Given the description of an element on the screen output the (x, y) to click on. 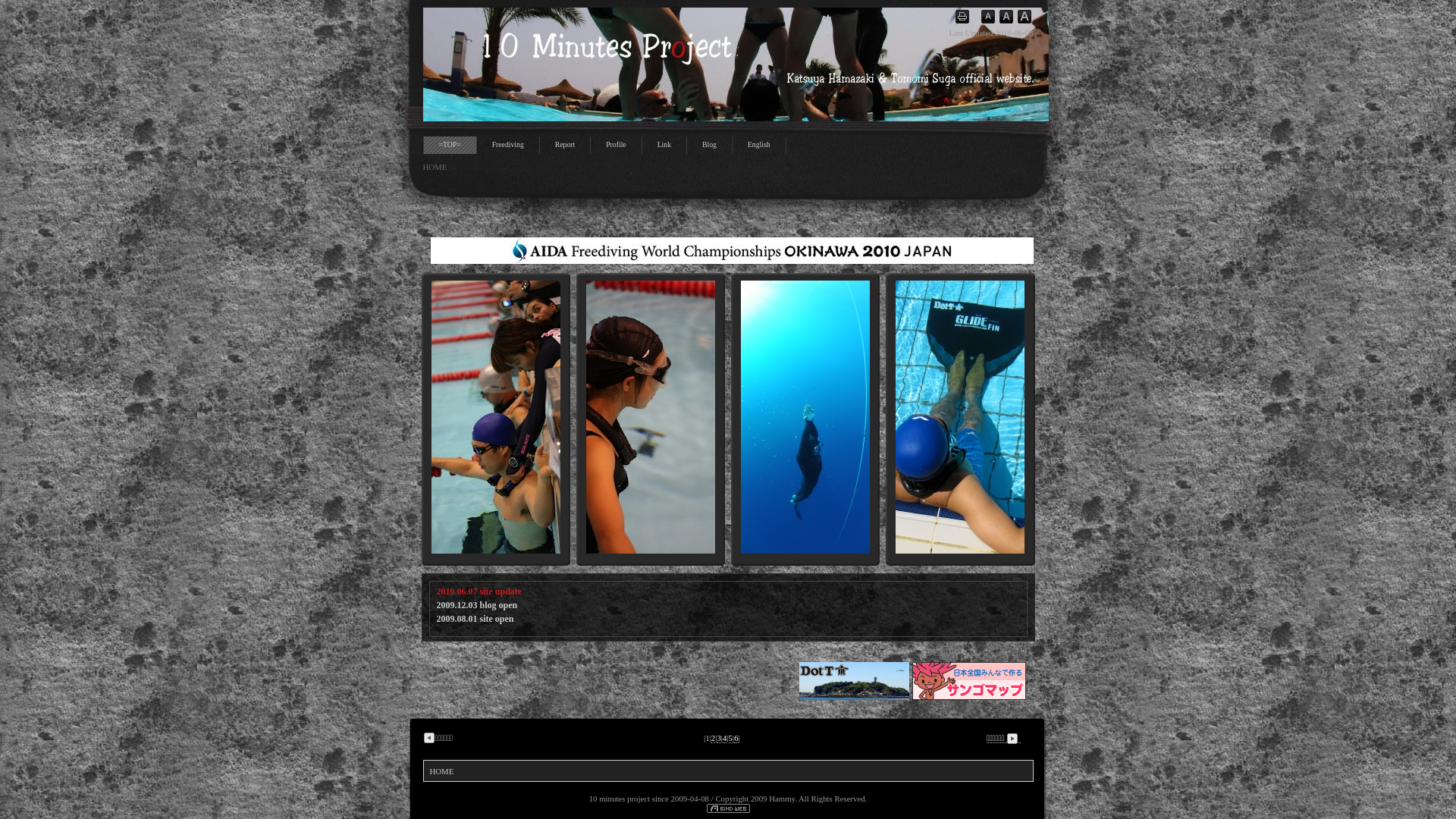
6 Element type: text (735, 738)
Link Element type: text (664, 144)
3 Element type: text (718, 738)
4 Element type: text (724, 738)
5 Element type: text (730, 738)
2 Element type: text (713, 738)
Blog Element type: text (709, 144)
Freediving Element type: text (507, 144)
Report Element type: text (564, 144)
Profile Element type: text (615, 144)
English Element type: text (758, 144)
=TOP= Element type: text (449, 144)
